Given the description of an element on the screen output the (x, y) to click on. 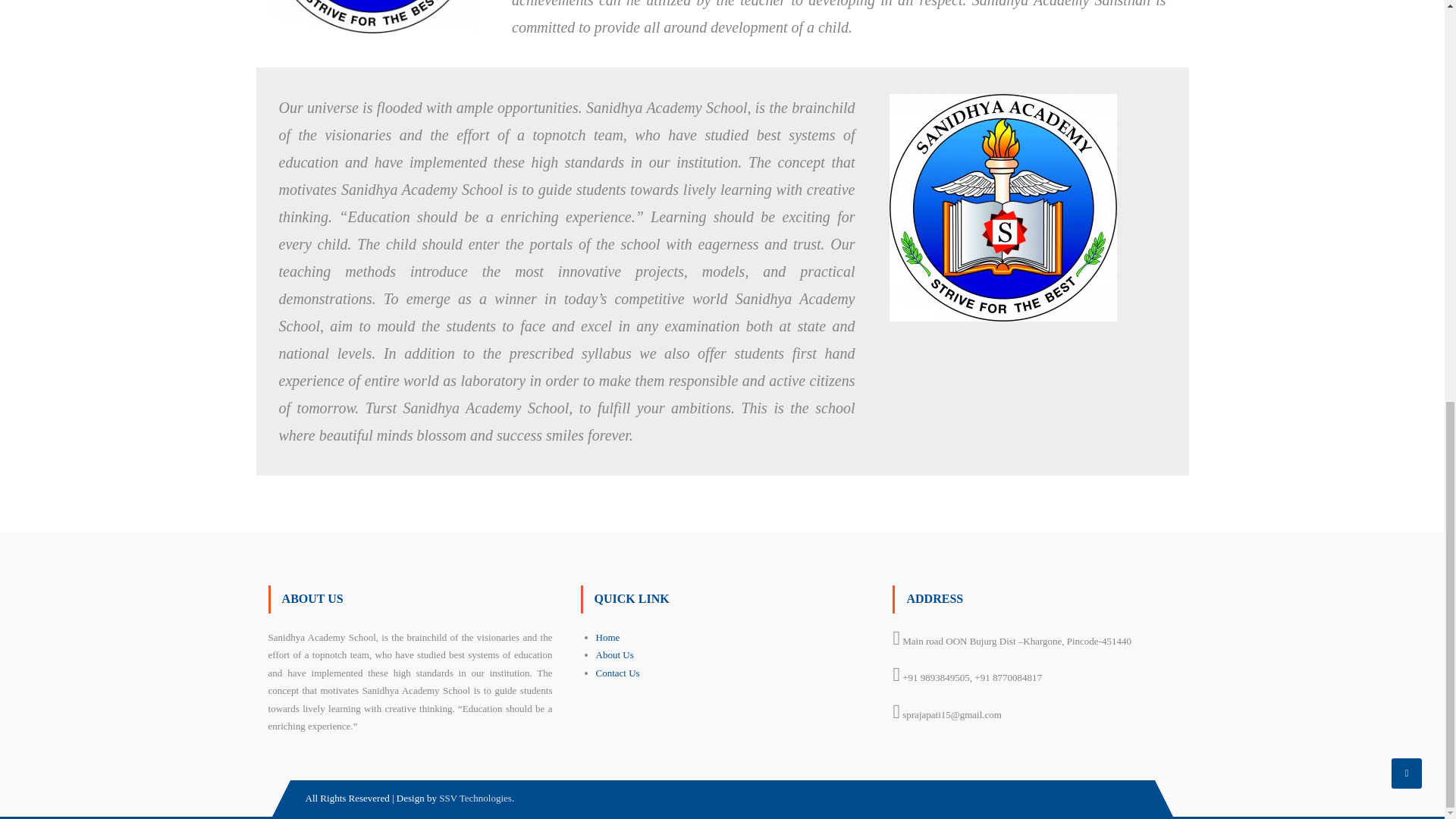
About Us (614, 654)
Contact Us (617, 672)
Home (607, 636)
SSV Technologies (475, 797)
